Given the description of an element on the screen output the (x, y) to click on. 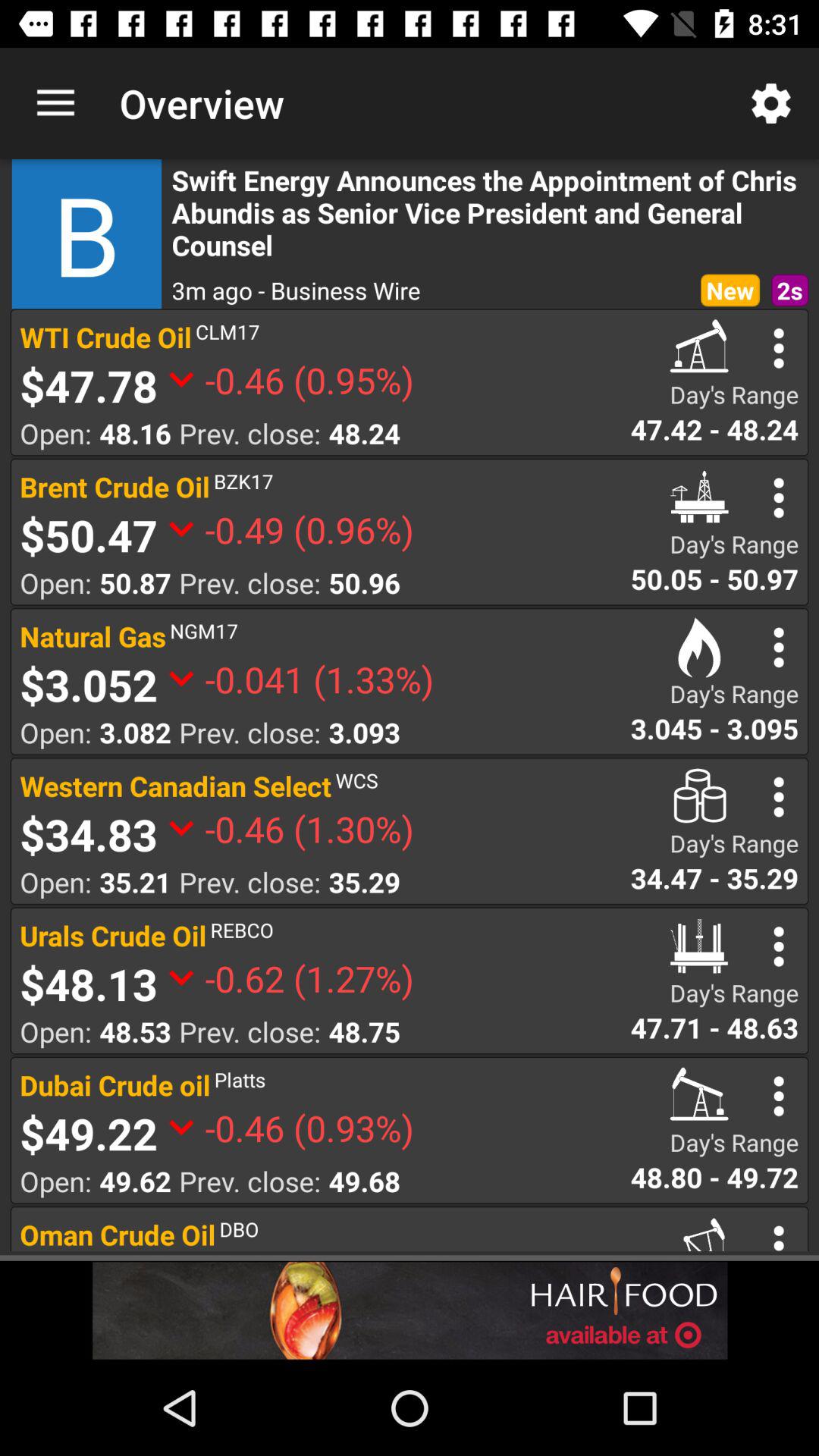
option (778, 796)
